Given the description of an element on the screen output the (x, y) to click on. 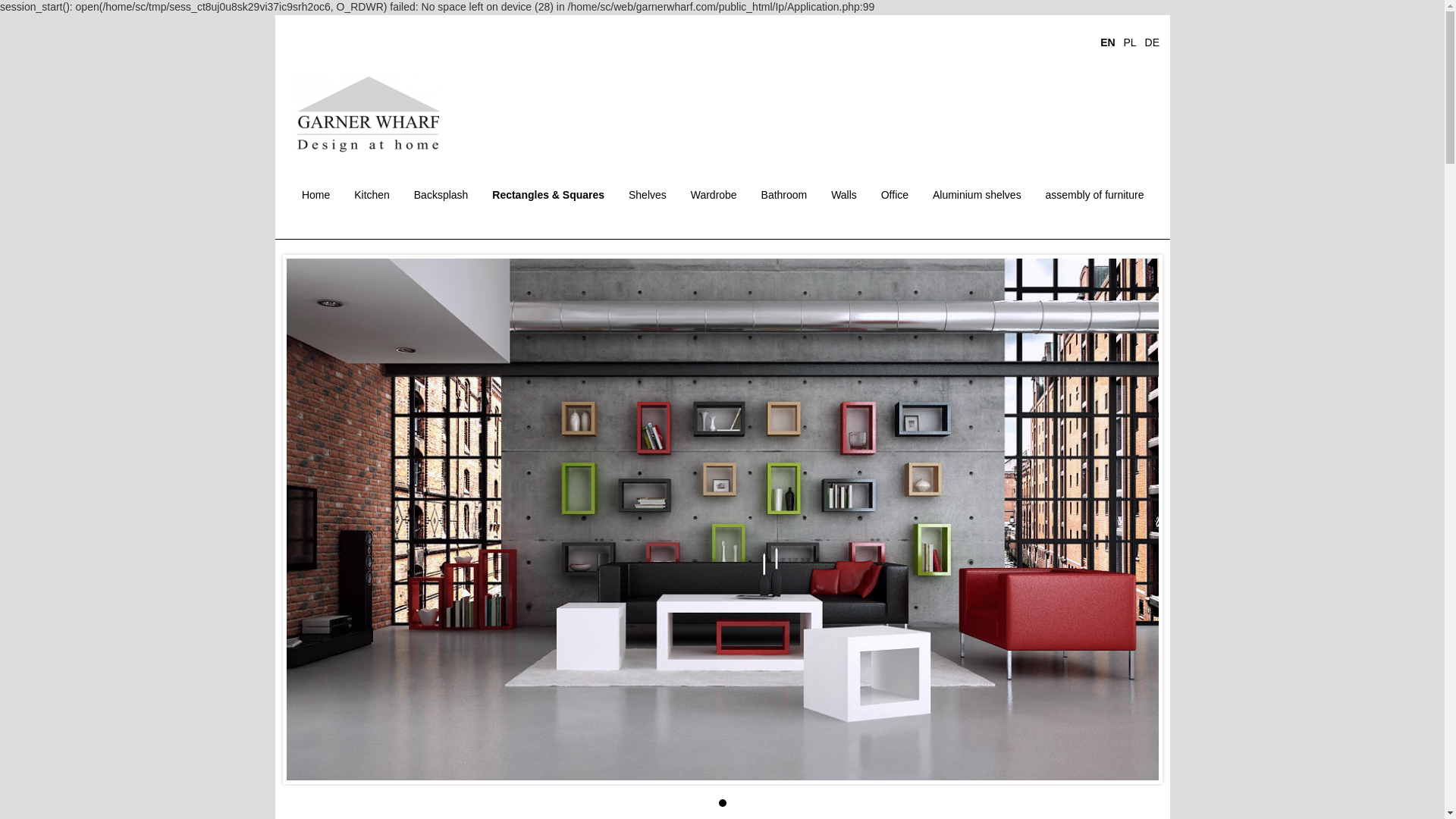
Kitchen (371, 195)
Home (315, 195)
Office (894, 195)
Walls (844, 195)
Wardrobe (713, 195)
Shelves (647, 195)
